Given the description of an element on the screen output the (x, y) to click on. 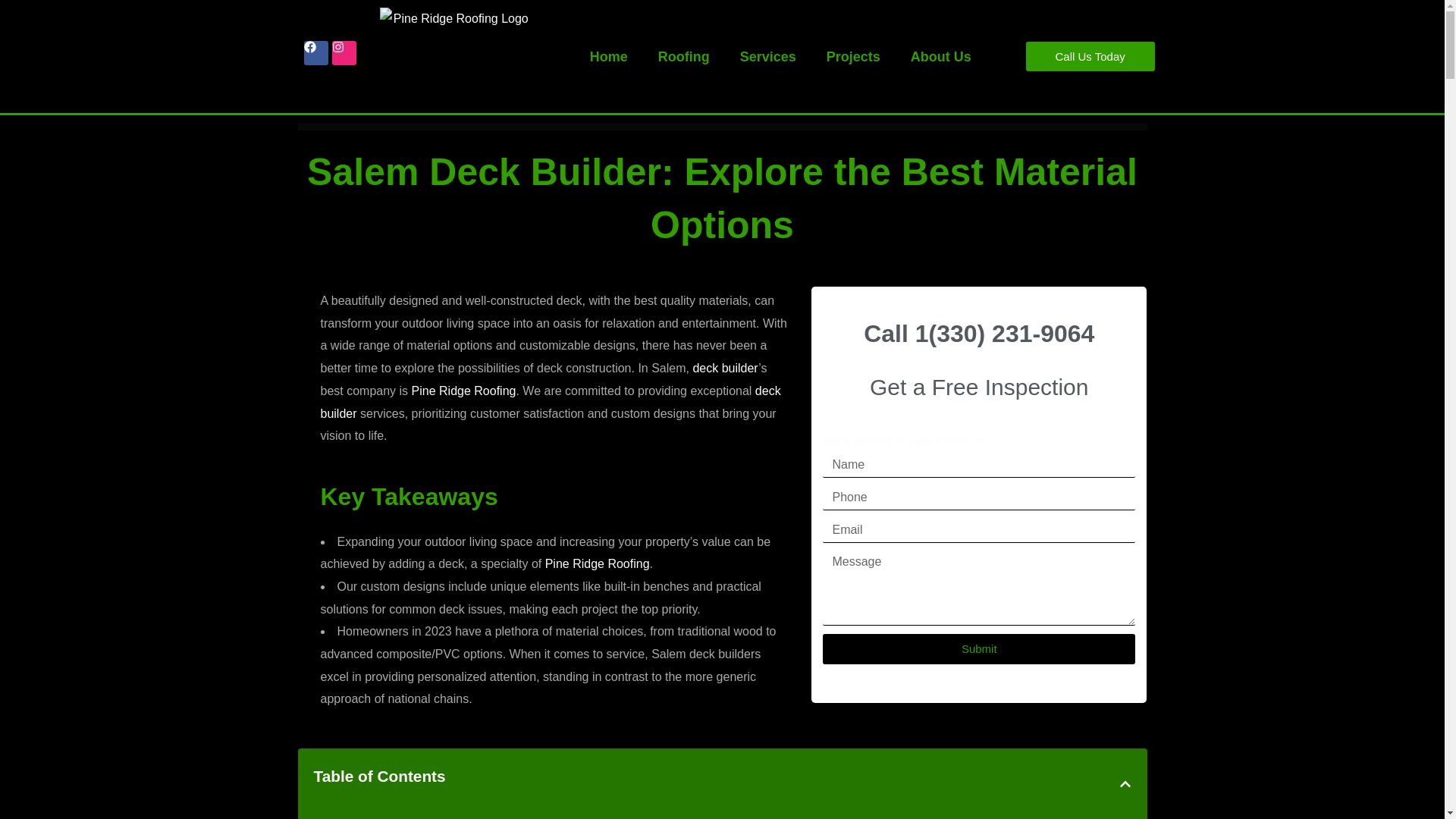
Pine Ridge Roofing (464, 390)
Services (767, 56)
Projects (852, 56)
Facebook (316, 52)
About Us (941, 56)
deck builder (725, 367)
deck builder (550, 402)
Home (609, 56)
Learn More (464, 390)
Instagram (343, 52)
